Given the description of an element on the screen output the (x, y) to click on. 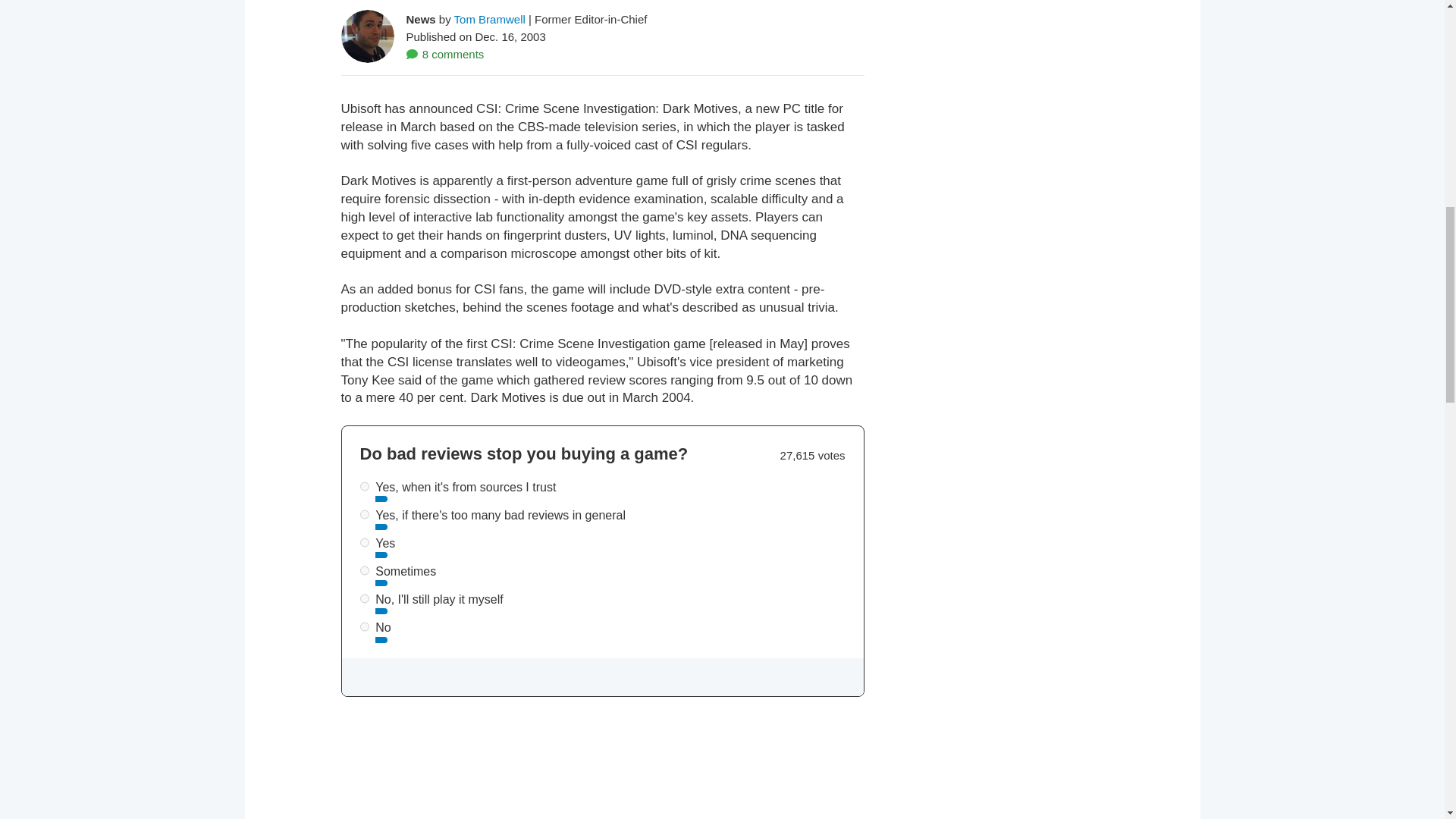
on (364, 626)
on (364, 598)
on (364, 486)
8 comments (445, 52)
on (364, 570)
on (364, 514)
Tom Bramwell (489, 18)
on (364, 542)
